Given the description of an element on the screen output the (x, y) to click on. 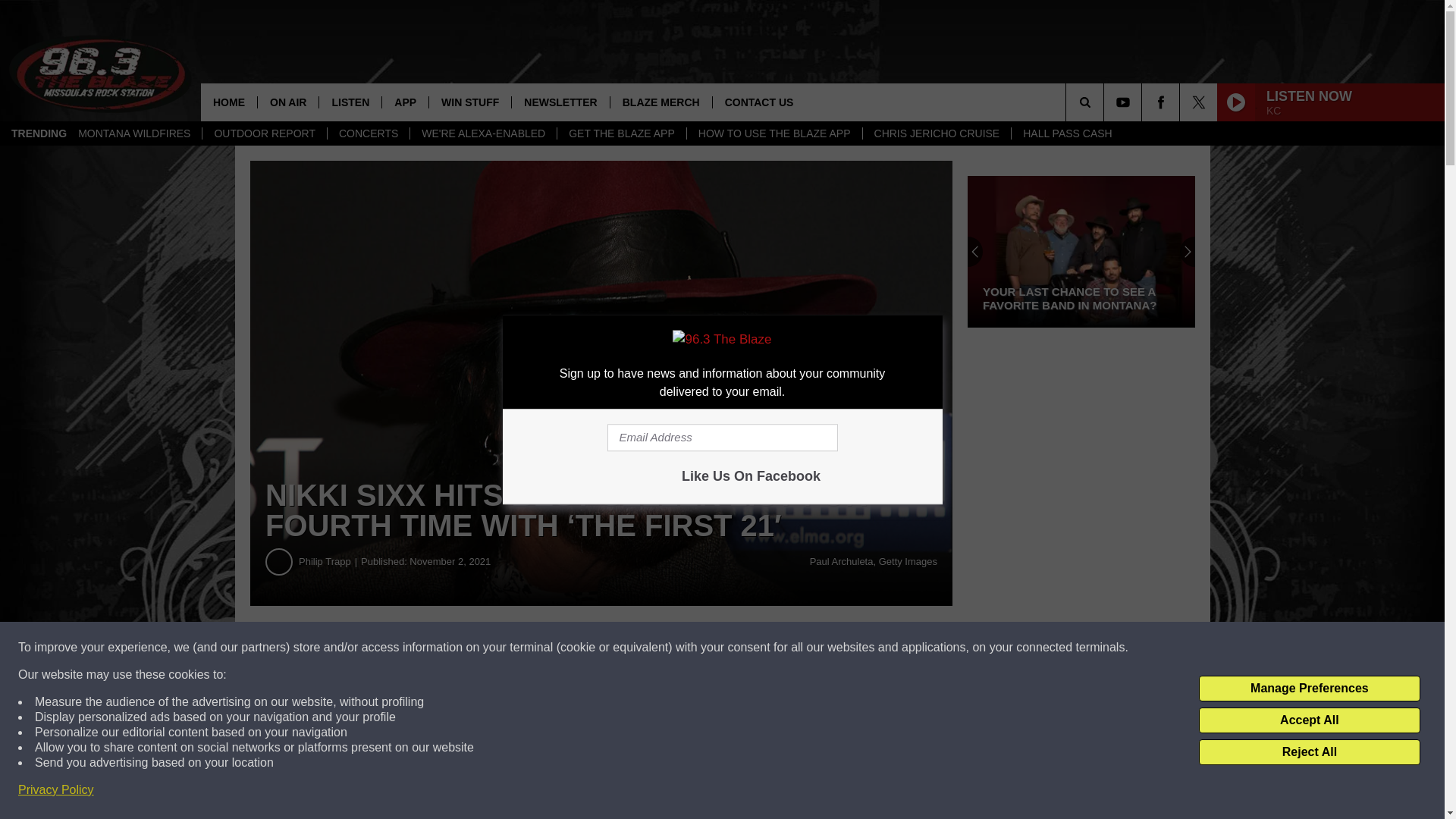
CONCERTS (367, 133)
SEARCH (1106, 102)
Share on Facebook (460, 647)
MONTANA WILDFIRES (134, 133)
NEWSLETTER (559, 102)
SEARCH (1106, 102)
ON AIR (287, 102)
HALL PASS CASH (1067, 133)
Reject All (1309, 751)
LISTEN (349, 102)
